Given the description of an element on the screen output the (x, y) to click on. 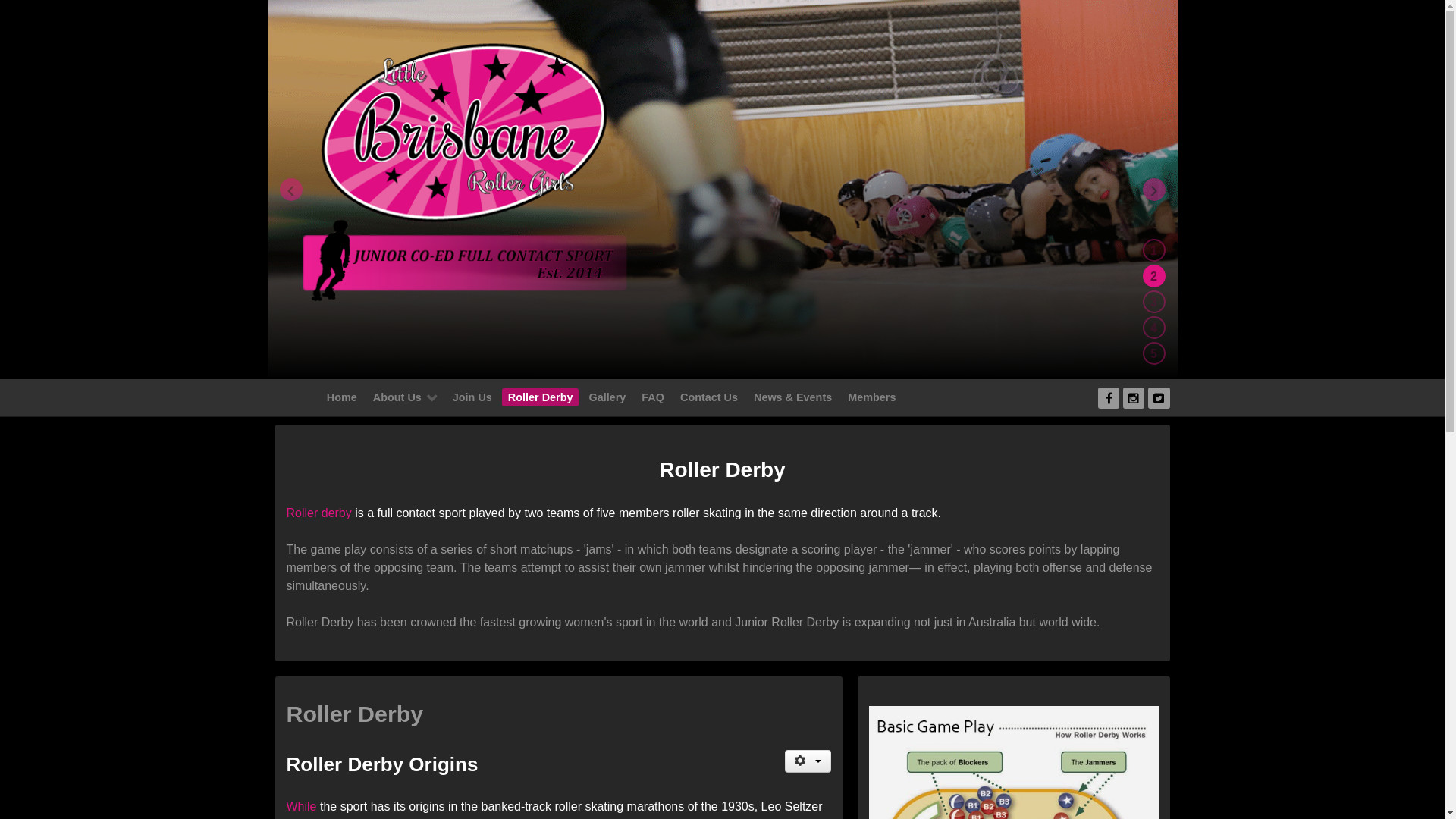
FAQ Element type: text (653, 397)
Contact Us Element type: text (708, 397)
Gallery Element type: text (607, 397)
Members Element type: text (871, 397)
Roller Derby Element type: text (540, 397)
News & Events Element type: text (792, 397)
Home Element type: text (341, 397)
Join Us Element type: text (471, 397)
About Us Element type: text (404, 397)
